Given the description of an element on the screen output the (x, y) to click on. 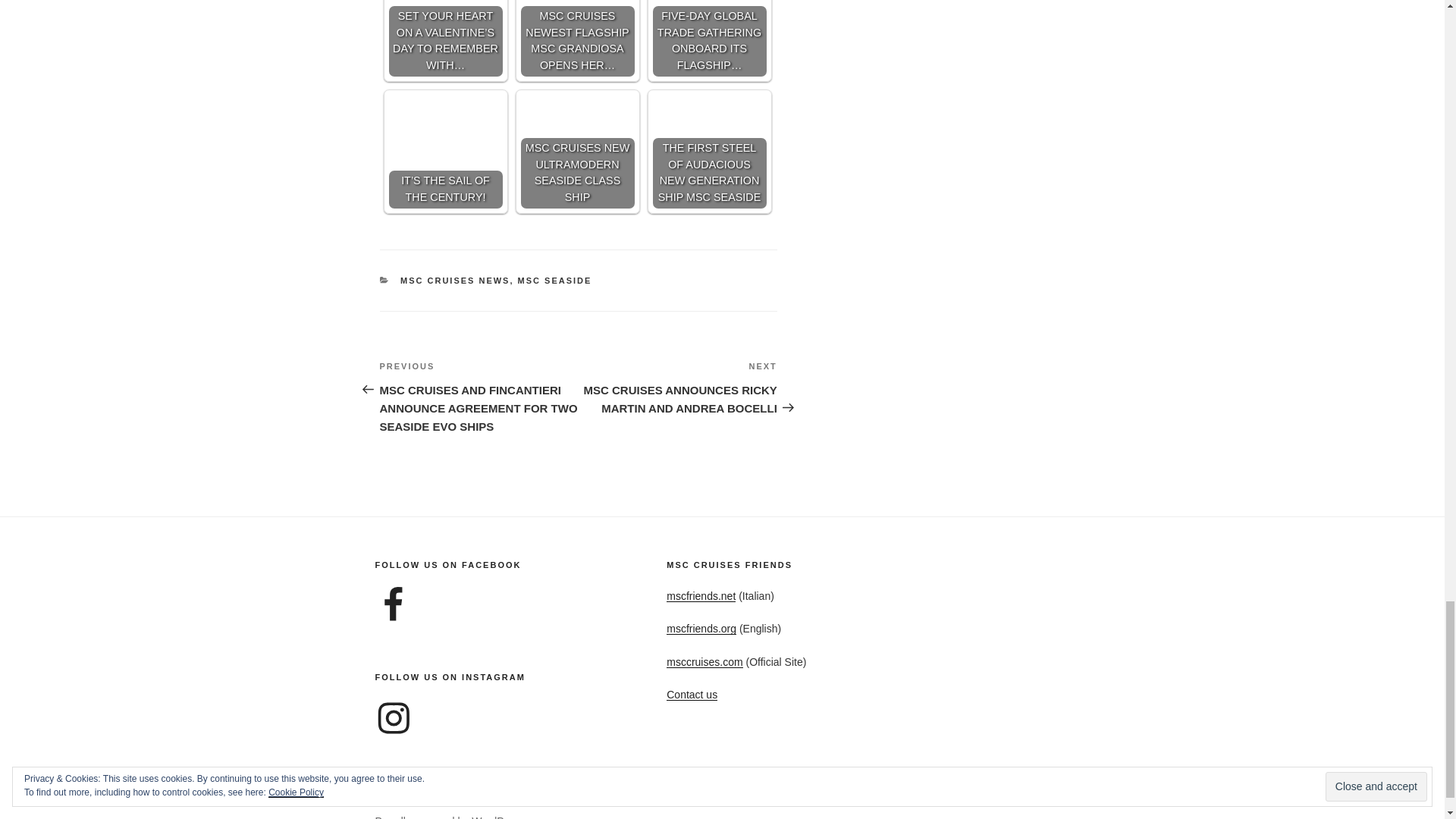
MSC CRUISES NEWS (454, 280)
MSC SEASIDE (555, 280)
MSC CRUISES NEW ULTRAMODERN SEASIDE CLASS SHIP (576, 151)
THE FIRST STEEL OF AUDACIOUS NEW GENERATION SHIP MSC SEASIDE (708, 151)
THE FIRST STEEL OF AUDACIOUS NEW GENERATION SHIP MSC SEASIDE (708, 151)
MSC CRUISES NEW ULTRAMODERN SEASIDE CLASS SHIP (576, 151)
